Given the description of an element on the screen output the (x, y) to click on. 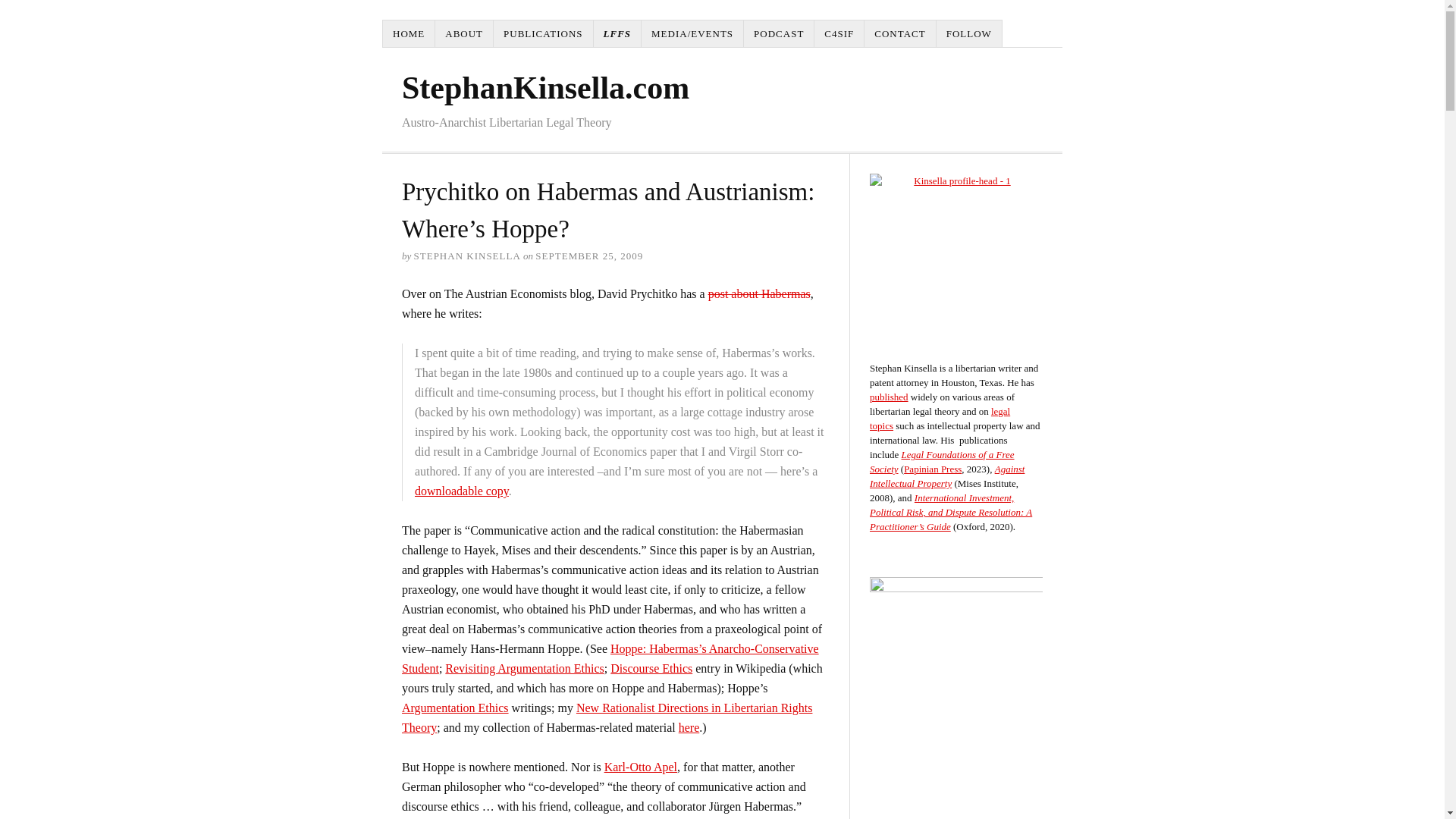
Argumentation Ethics (454, 707)
Revisiting Argumentation Ethics (524, 667)
downloadable copy (461, 490)
post about Habermas (758, 293)
Discourse Ethics (651, 667)
here (689, 727)
HOME (408, 33)
LFFS (618, 33)
2009-09-25 (589, 255)
PODCAST (778, 33)
